Given the description of an element on the screen output the (x, y) to click on. 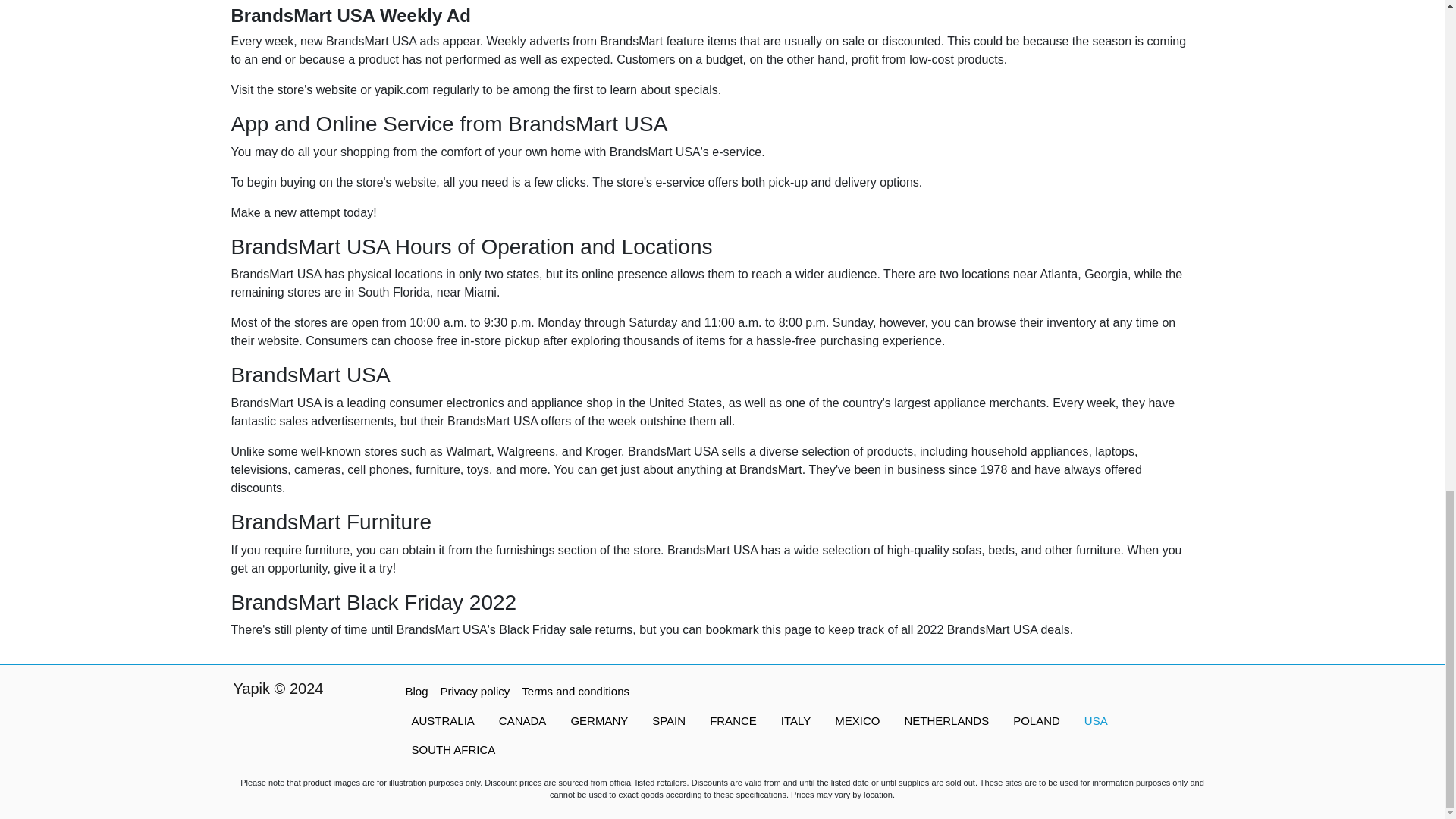
Australia (442, 721)
Canada (522, 721)
Mexico (856, 721)
Spain (668, 721)
USA (1095, 721)
Poland (1036, 721)
Italy (795, 721)
Netherlands (946, 721)
Germany (598, 721)
South Africa (452, 749)
